Given the description of an element on the screen output the (x, y) to click on. 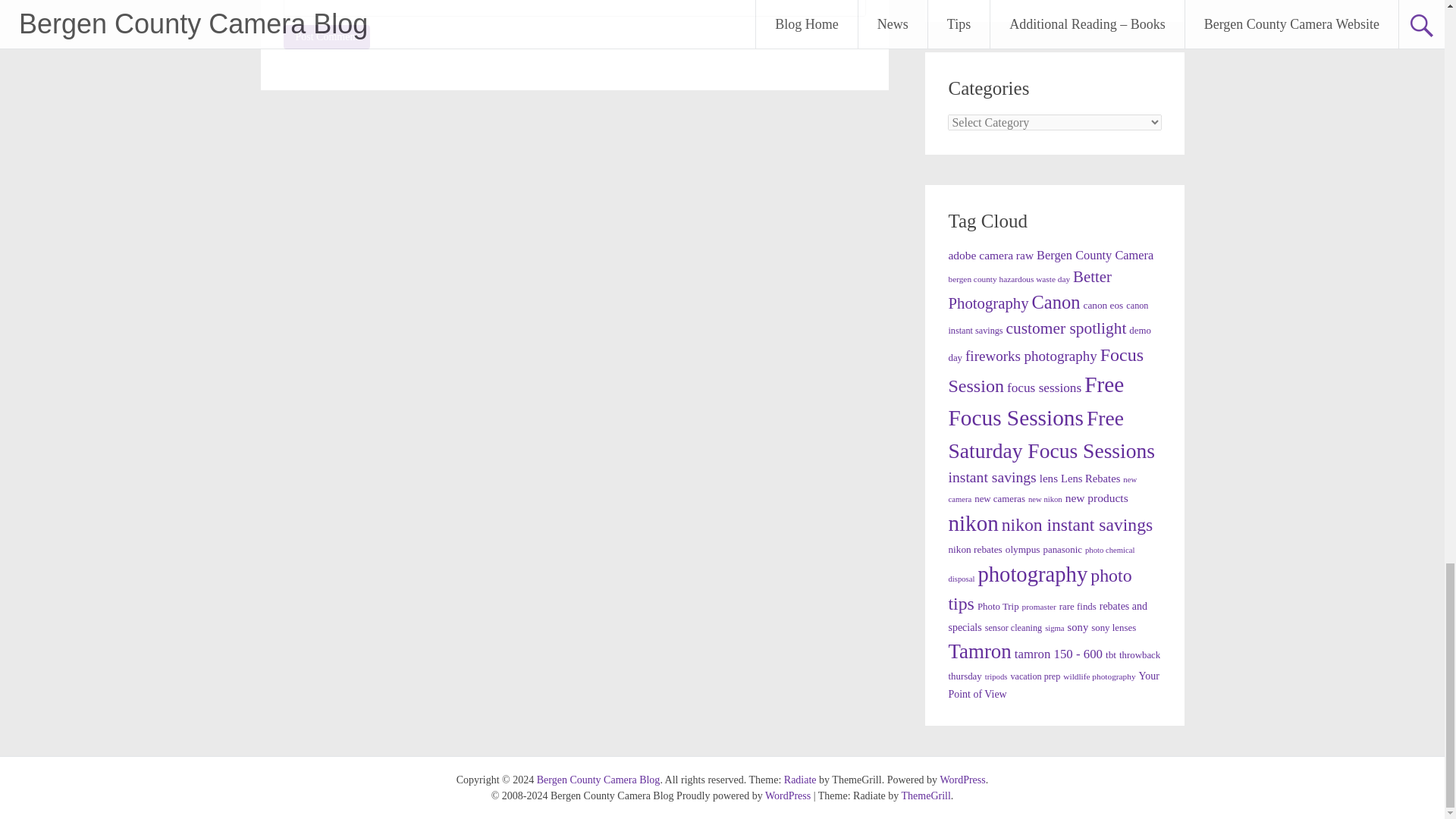
WordPress (962, 779)
Bergen County Camera (1094, 255)
Post Comment (327, 37)
Post Comment (327, 37)
bergen county hazardous waste day (1008, 278)
Radiate (800, 779)
Bergen County Camera Blog (599, 779)
adobe camera raw (990, 254)
